Given the description of an element on the screen output the (x, y) to click on. 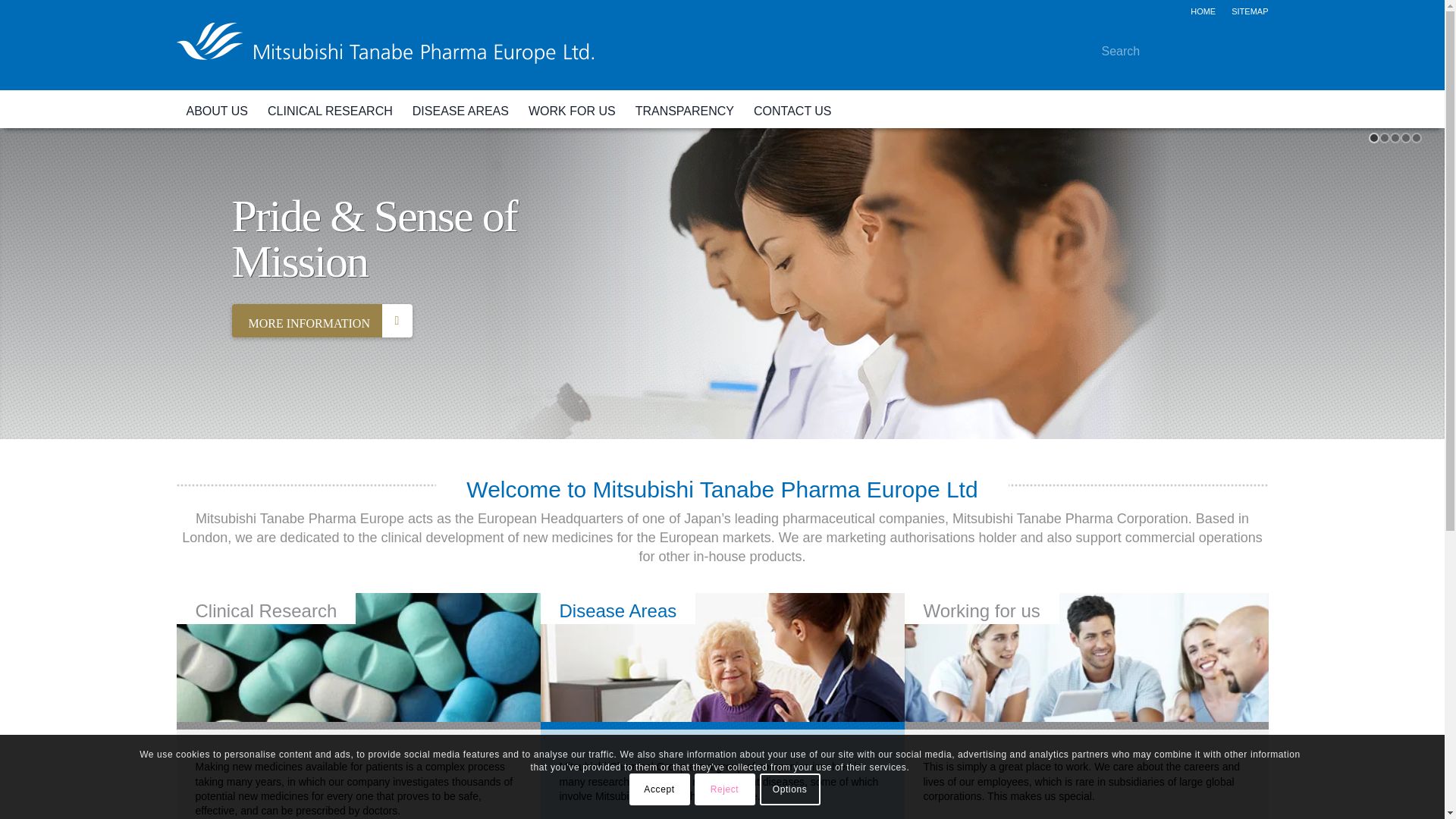
DISEASE AREAS (460, 108)
ABOUT US (216, 108)
clinical-research (358, 660)
MORE INFORMATION (321, 320)
CLINICAL RESEARCH (330, 108)
logo (384, 56)
Click to start search (1245, 49)
SITEMAP (1249, 11)
disease-areas (722, 660)
